Given the description of an element on the screen output the (x, y) to click on. 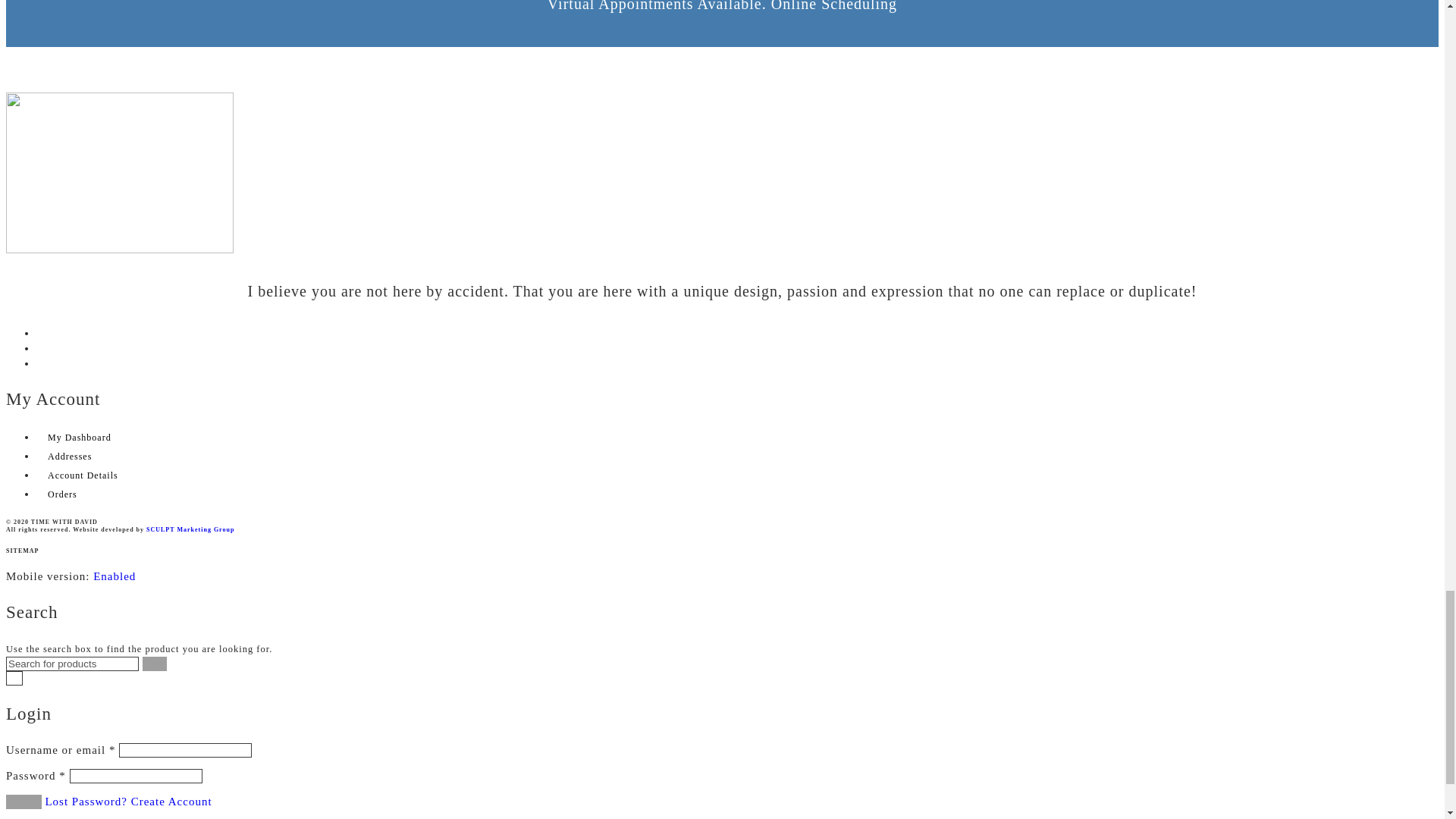
Default Label (42, 363)
Search for products (71, 663)
Login (23, 801)
Facebook (42, 332)
Twitter (42, 347)
Go (154, 663)
